Given the description of an element on the screen output the (x, y) to click on. 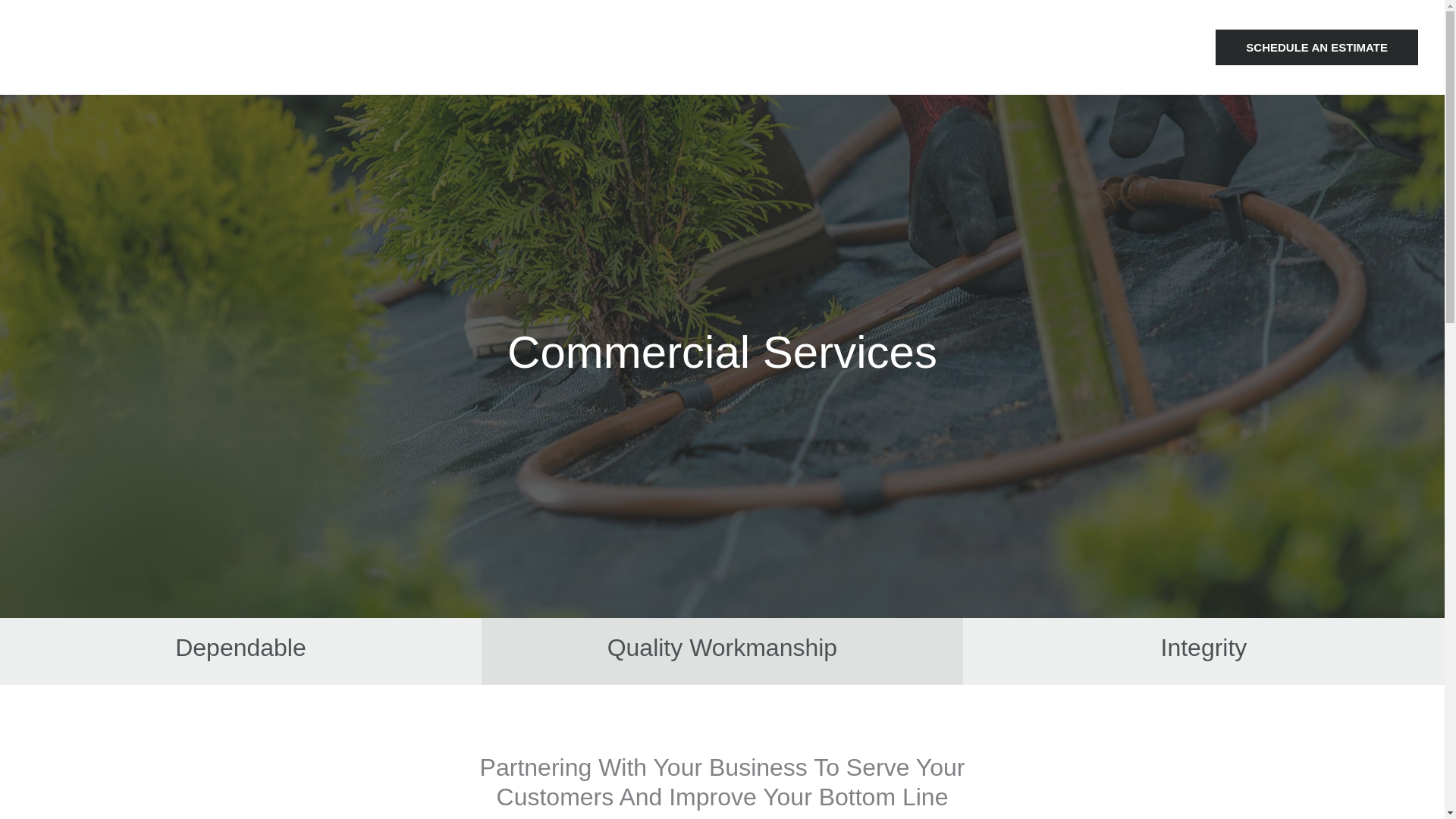
About Us (1092, 47)
Commercial (876, 47)
Contact Us (1162, 47)
Residential (954, 47)
SCHEDULE AN ESTIMATE (1316, 47)
Our Work (1025, 47)
Governmental (791, 47)
